Given the description of an element on the screen output the (x, y) to click on. 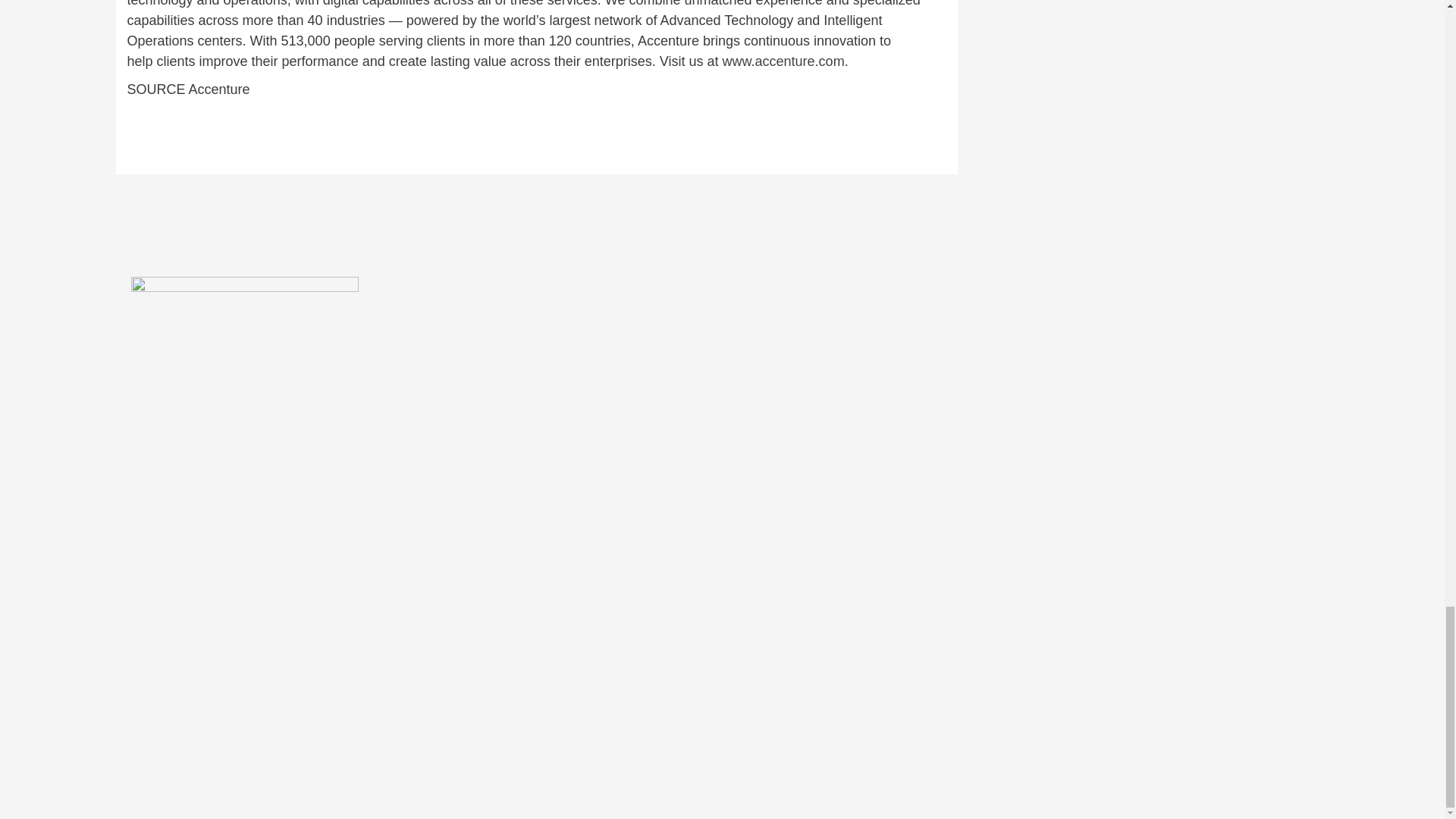
www.accenture.com (783, 61)
